Given the description of an element on the screen output the (x, y) to click on. 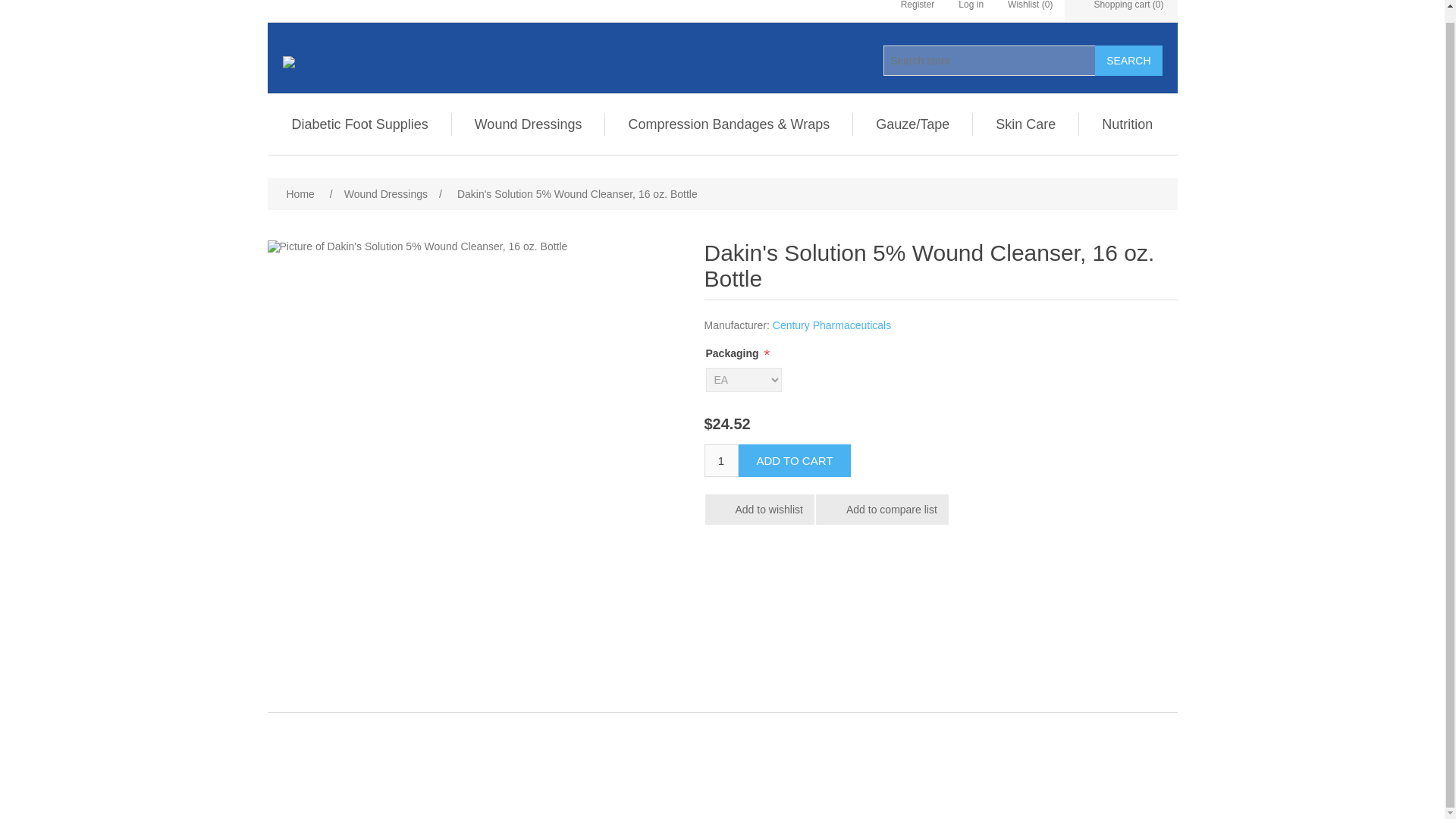
Register (917, 11)
Add to cart (794, 460)
Add to compare list (882, 509)
Home (299, 193)
Wound Dressings (528, 124)
Add to wishlist (758, 509)
Search (1127, 60)
Nutrition (1127, 124)
Log in (971, 11)
1 (720, 460)
